Given the description of an element on the screen output the (x, y) to click on. 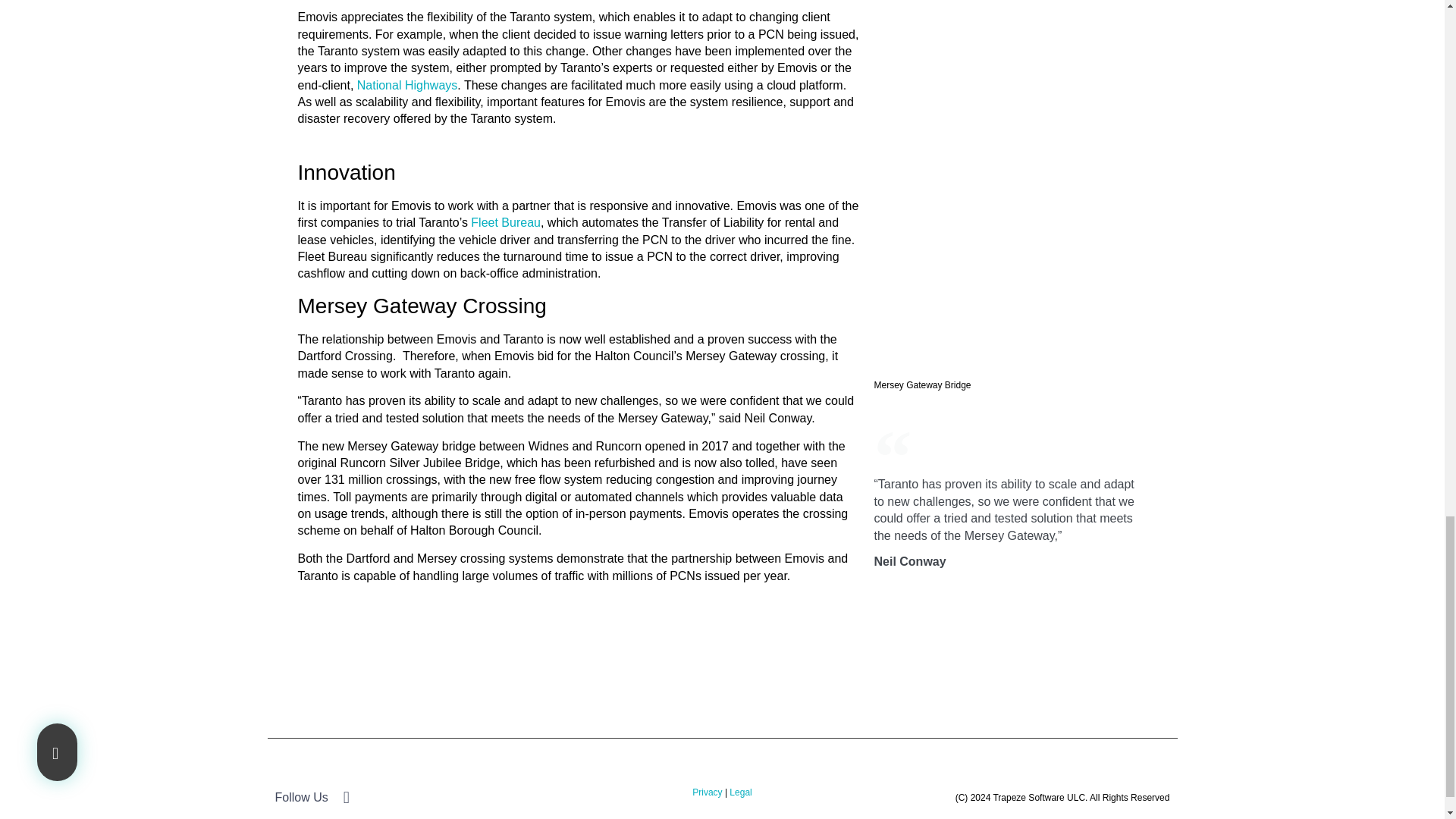
Legal (740, 792)
Fleet Bureau (505, 222)
National Highways (407, 84)
Privacy (707, 792)
